Given the description of an element on the screen output the (x, y) to click on. 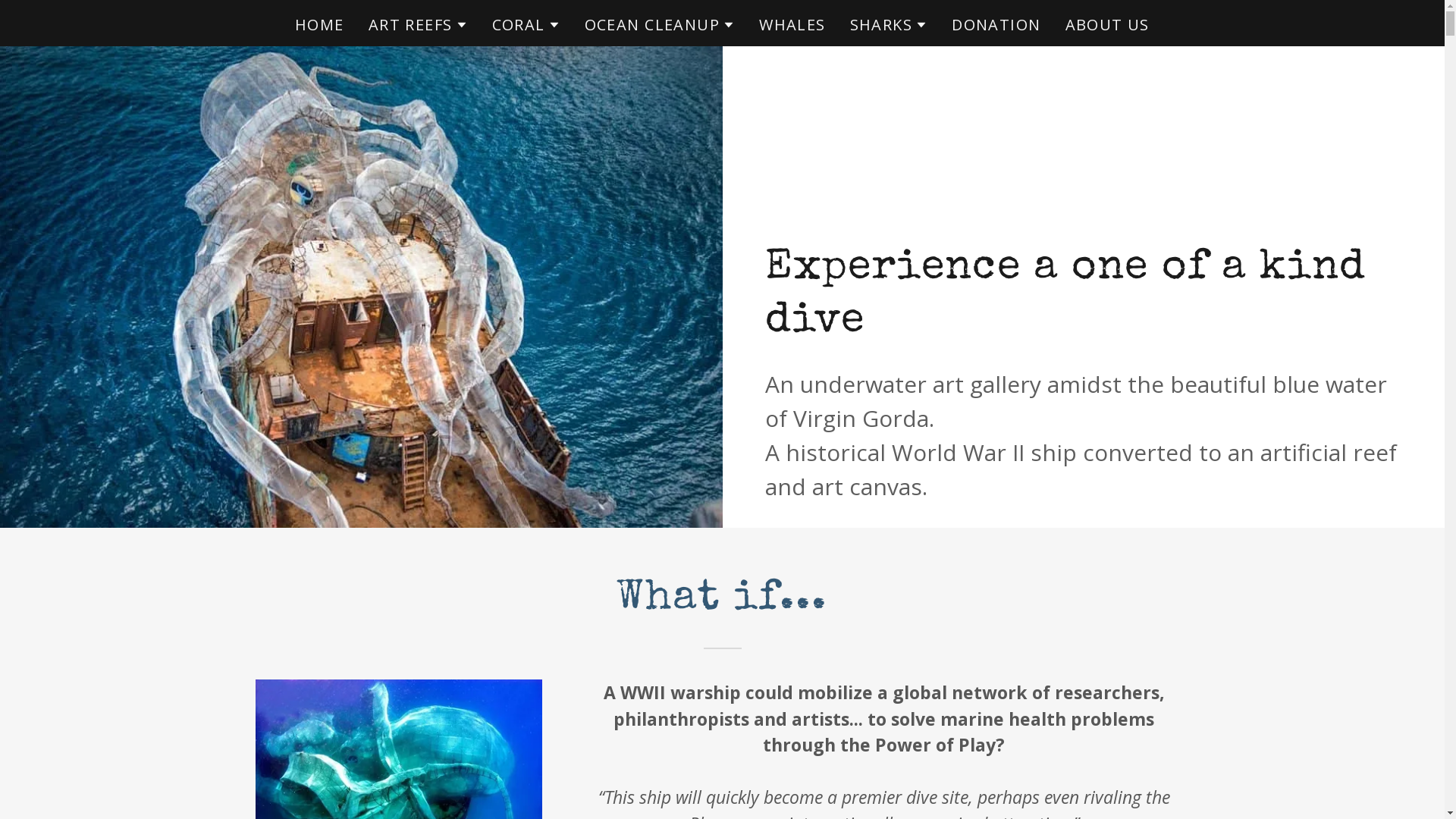
ART REEFS Element type: text (417, 24)
HOME Element type: text (319, 24)
OCEAN CLEANUP Element type: text (659, 24)
ABOUT US Element type: text (1107, 24)
WHALES Element type: text (792, 24)
CORAL Element type: text (526, 24)
SHARKS Element type: text (889, 24)
DONATION Element type: text (995, 24)
